Given the description of an element on the screen output the (x, y) to click on. 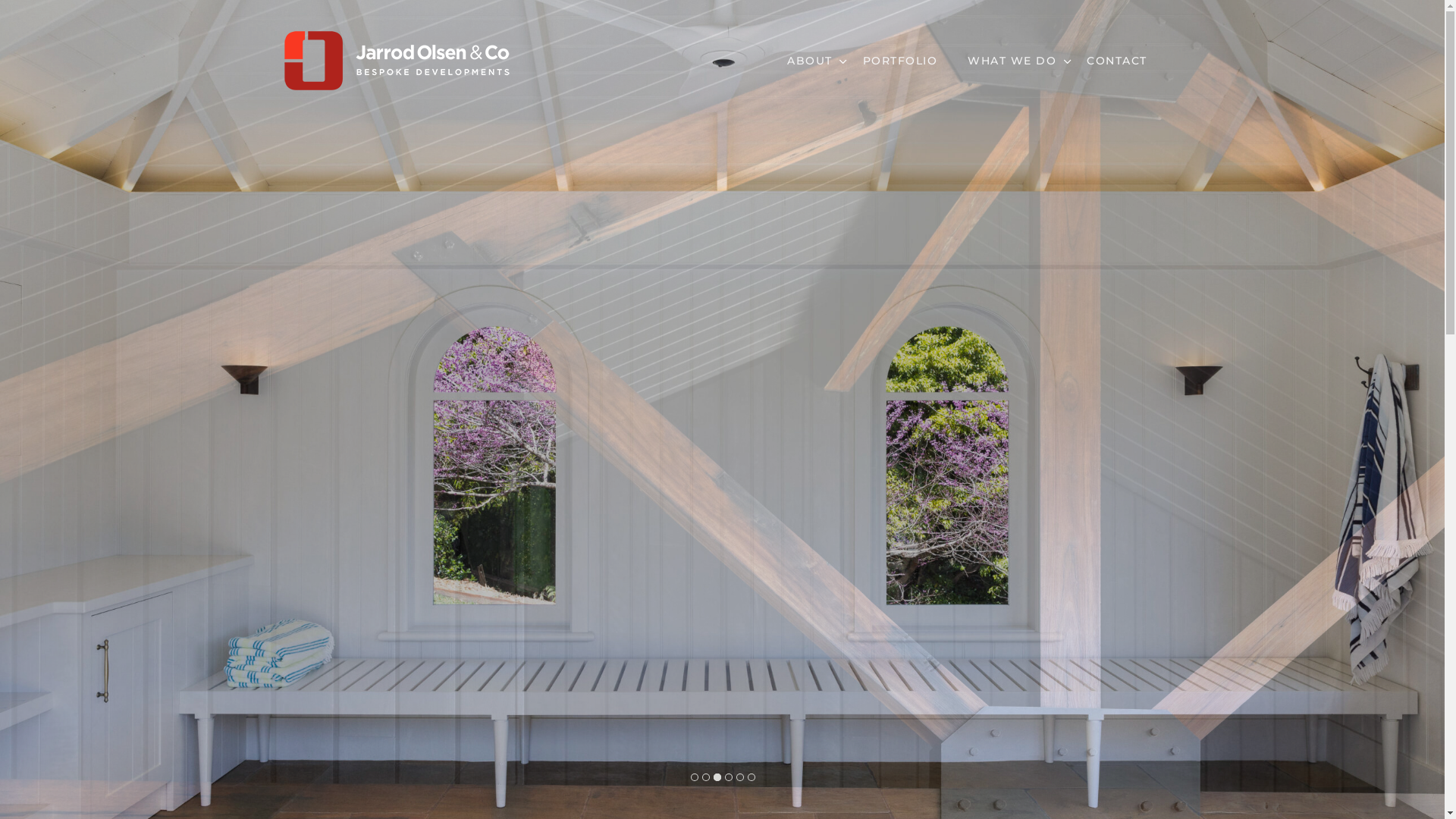
CONTACT Element type: text (1116, 60)
PORTFOLIO Element type: text (900, 60)
WHAT WE DO Element type: text (1011, 60)
ABOUT Element type: text (809, 60)
